Given the description of an element on the screen output the (x, y) to click on. 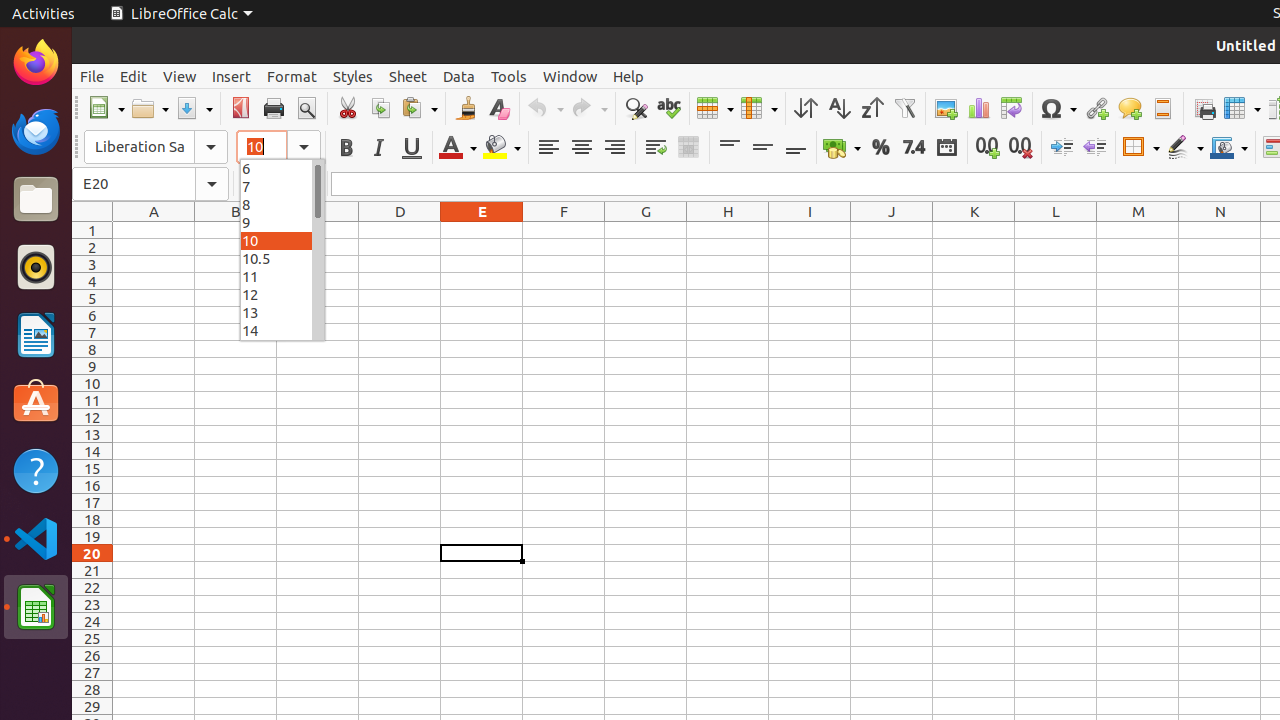
Pivot Table Element type: push-button (1011, 108)
Clone Element type: push-button (465, 108)
New Element type: push-button (106, 108)
Clear Element type: push-button (498, 108)
D1 Element type: table-cell (400, 230)
